Given the description of an element on the screen output the (x, y) to click on. 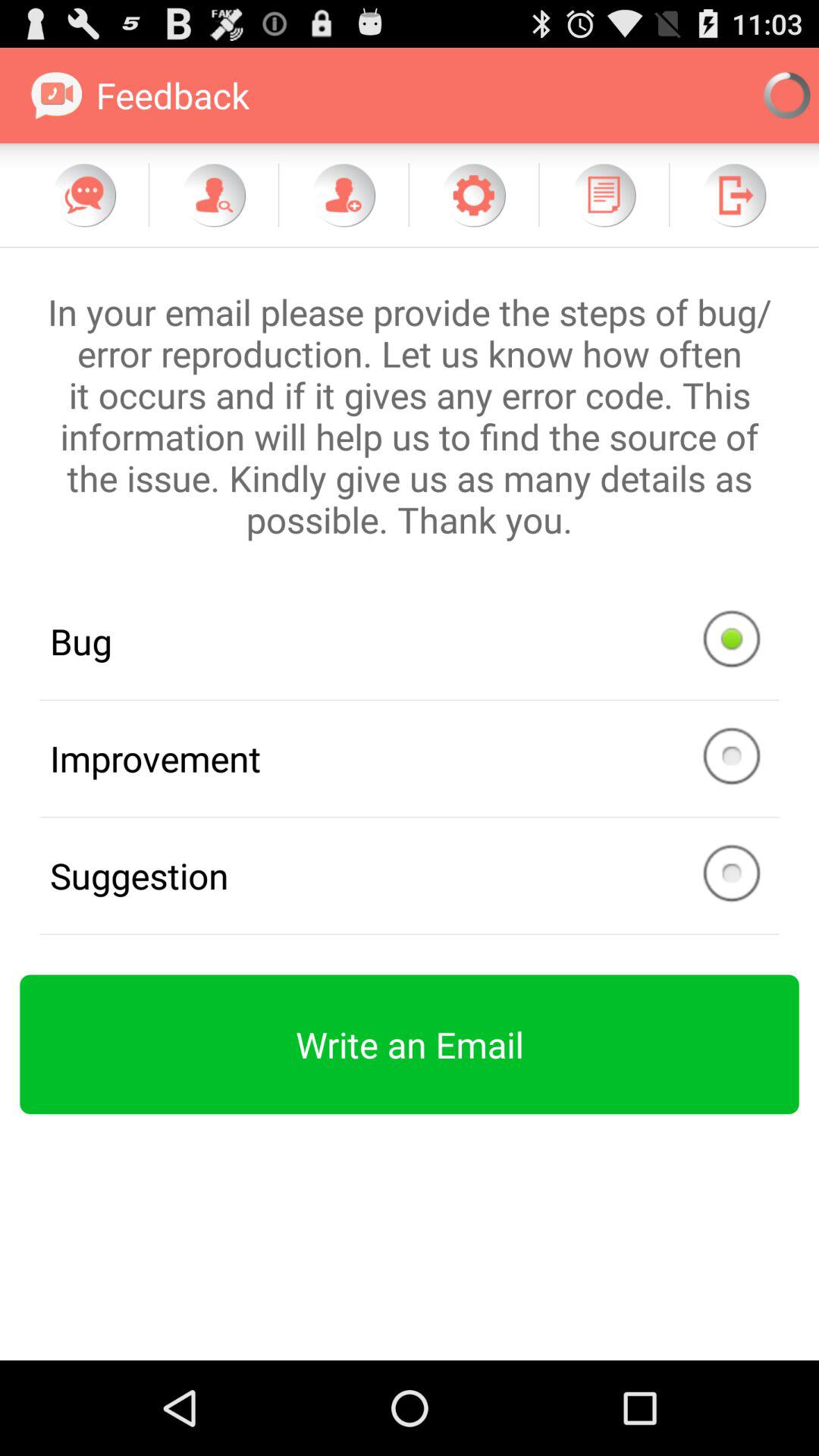
launch item above the write an email icon (409, 875)
